Given the description of an element on the screen output the (x, y) to click on. 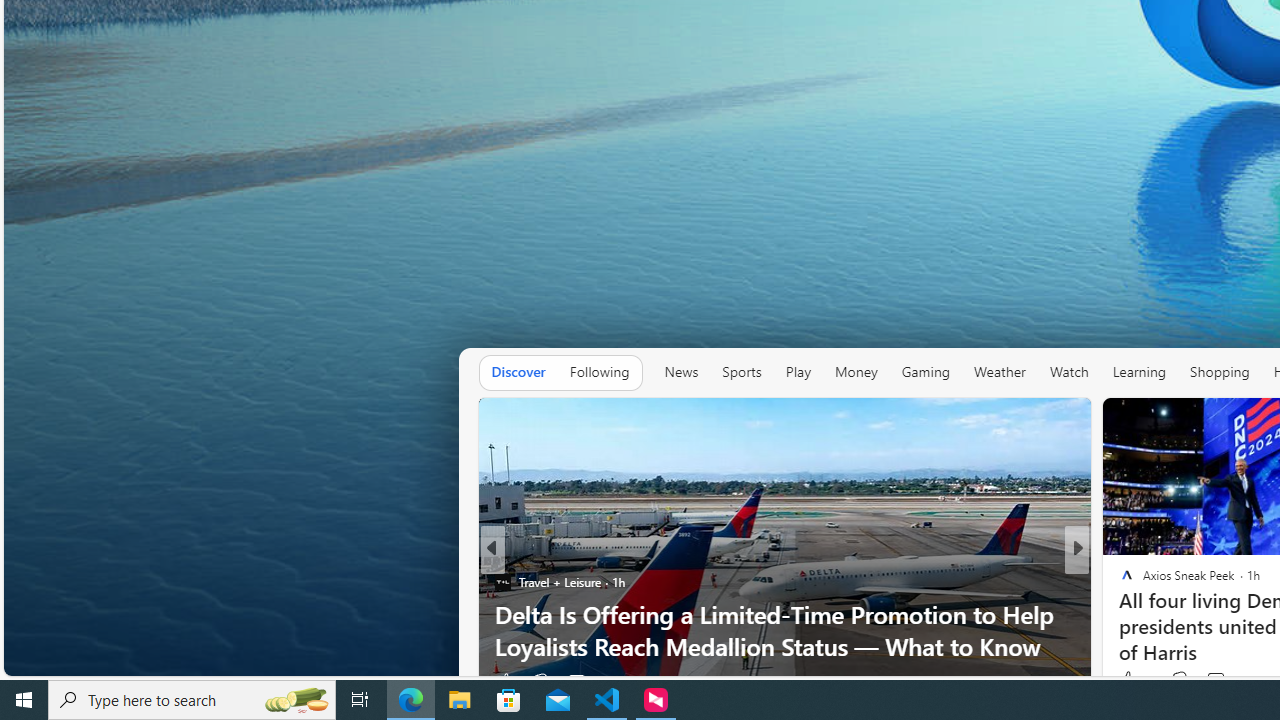
1k Like (1128, 681)
Reader's Digest (1117, 581)
House Digest (1117, 581)
29 Like (1128, 681)
490 Like (1132, 681)
View comments 13 Comment (1217, 681)
34 Like (1128, 681)
Shopping (1219, 372)
Learning (1138, 371)
View comments 4 Comment (1214, 681)
Learning (1138, 372)
